Given the description of an element on the screen output the (x, y) to click on. 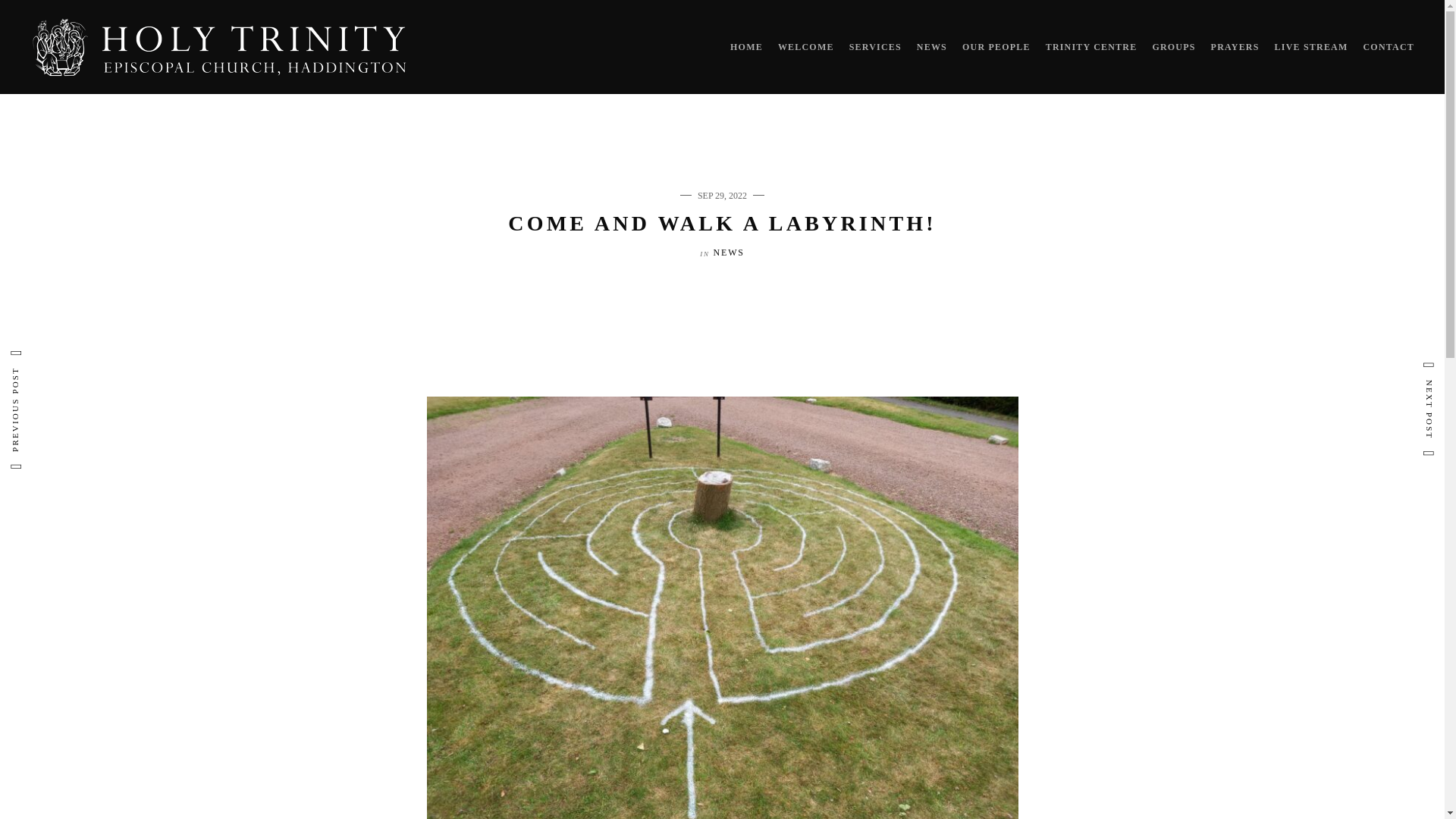
NEWS (932, 46)
WELCOME (805, 46)
A feast of music! September 2022 (189, 235)
CONTACT (1387, 46)
HOME (746, 46)
LIVE STREAM (1311, 46)
PREVIOUS POST (189, 235)
WELCOME (805, 46)
CONTACT (1387, 46)
GROUPS (1173, 46)
SERVICES (874, 46)
OUR PEOPLE (996, 46)
NEWS (932, 46)
PRAYERS (1235, 46)
View all posts in News (728, 252)
